Given the description of an element on the screen output the (x, y) to click on. 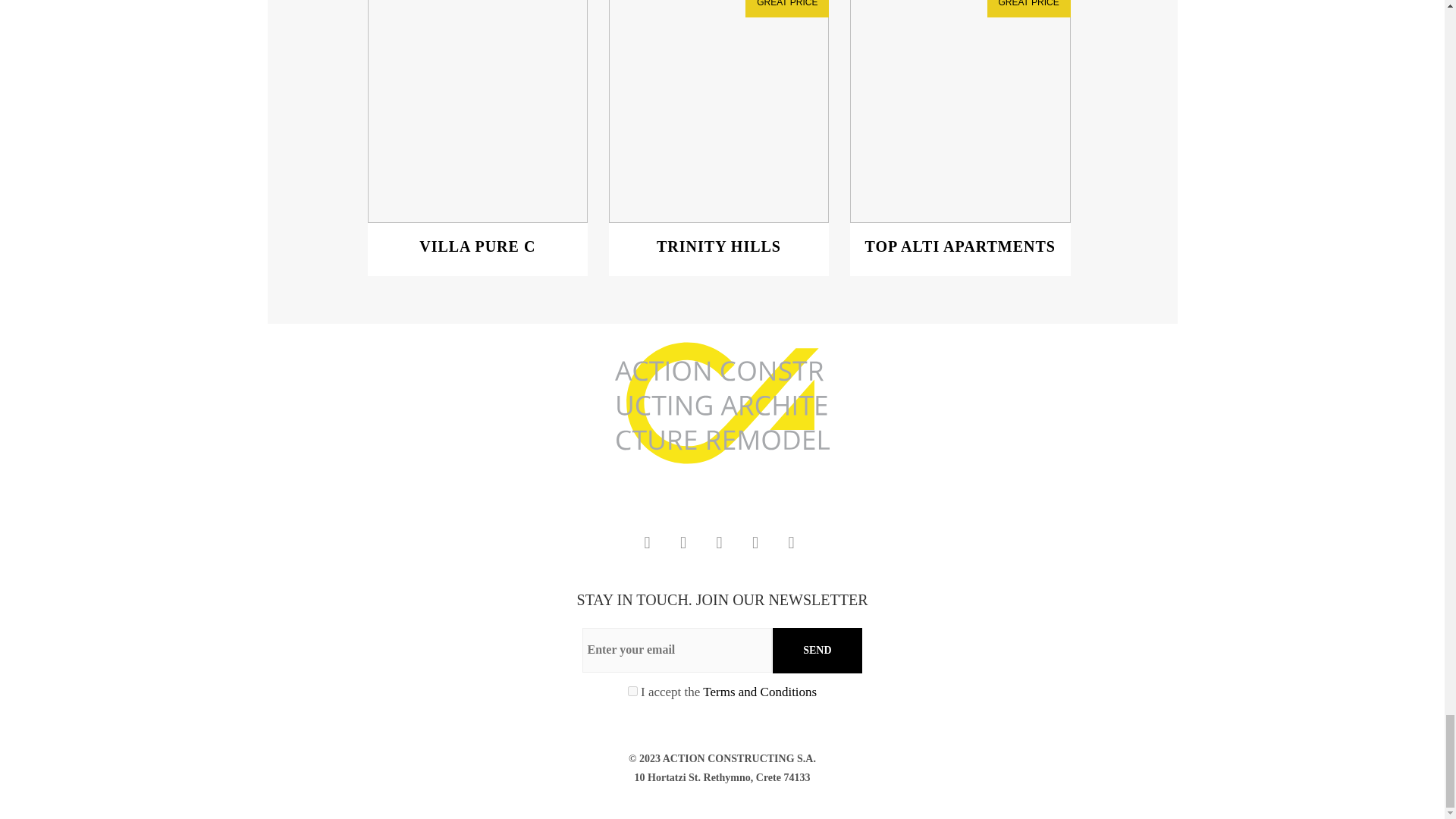
Terms and Conditions (718, 111)
SEND (632, 691)
VILLA PURE C (960, 111)
TOP ALTI APARTMENTS (817, 650)
TRINITY HILLS (477, 246)
on (960, 254)
SEND (718, 246)
